Given the description of an element on the screen output the (x, y) to click on. 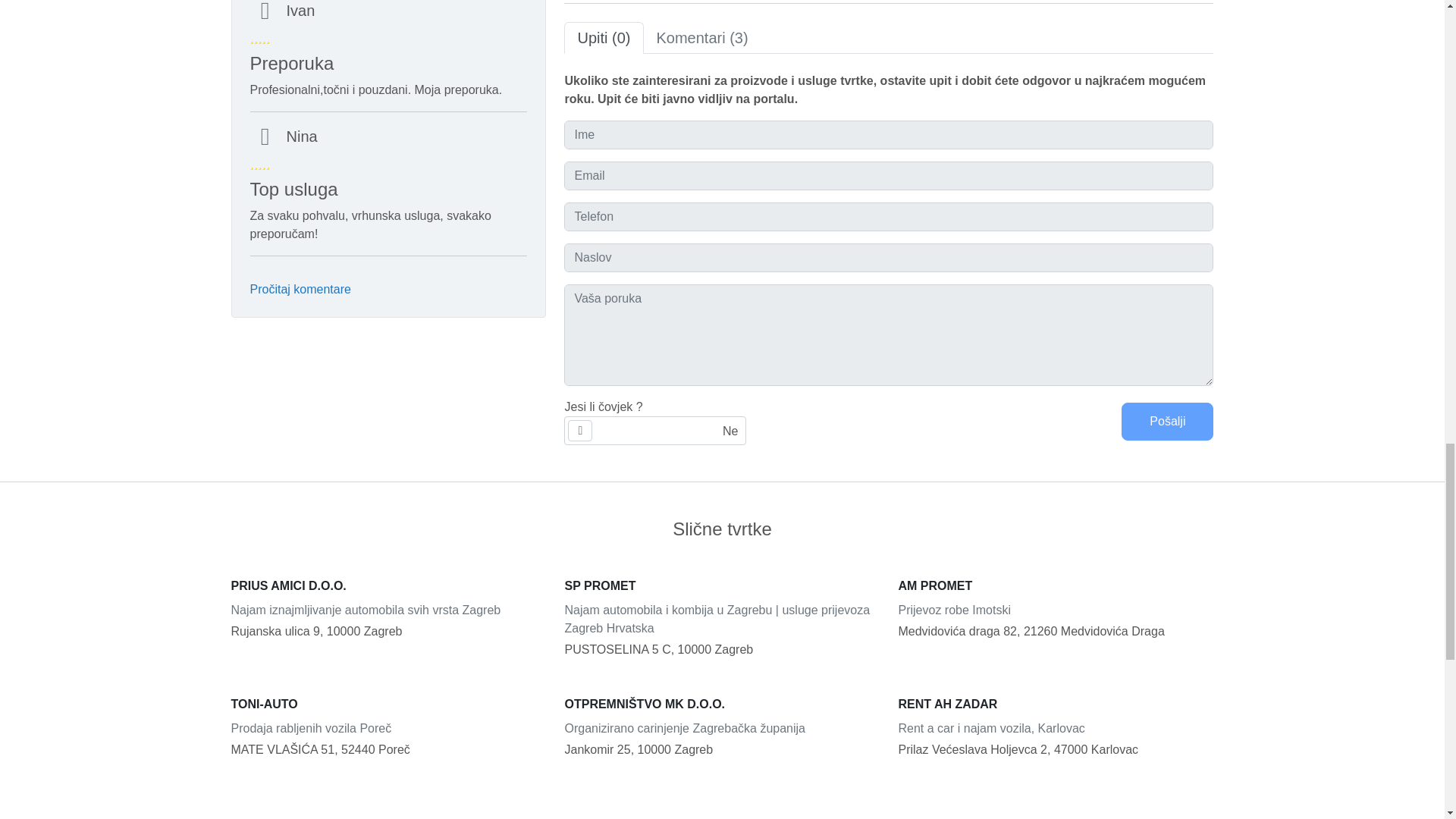
TONI-AUTO (388, 704)
PRIUS AMICI D.O.O. (388, 586)
AM PROMET (1055, 586)
SP PROMET (721, 586)
